Given the description of an element on the screen output the (x, y) to click on. 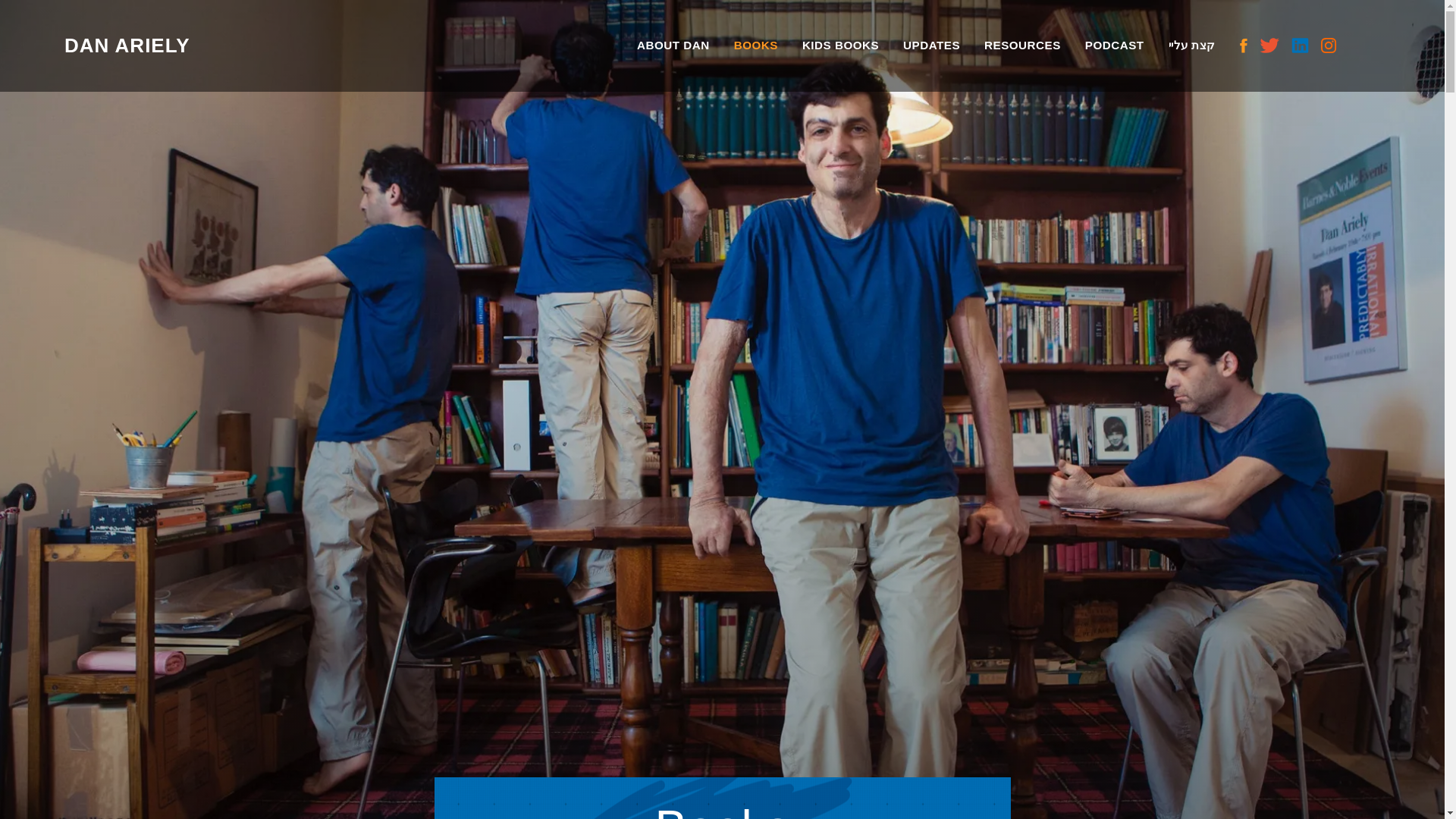
PODCAST (1114, 45)
ABOUT DAN (673, 45)
UPDATES (930, 45)
KIDS BOOKS (840, 45)
DAN ARIELY (130, 45)
RESOURCES (1022, 45)
BOOKS (755, 45)
